Given the description of an element on the screen output the (x, y) to click on. 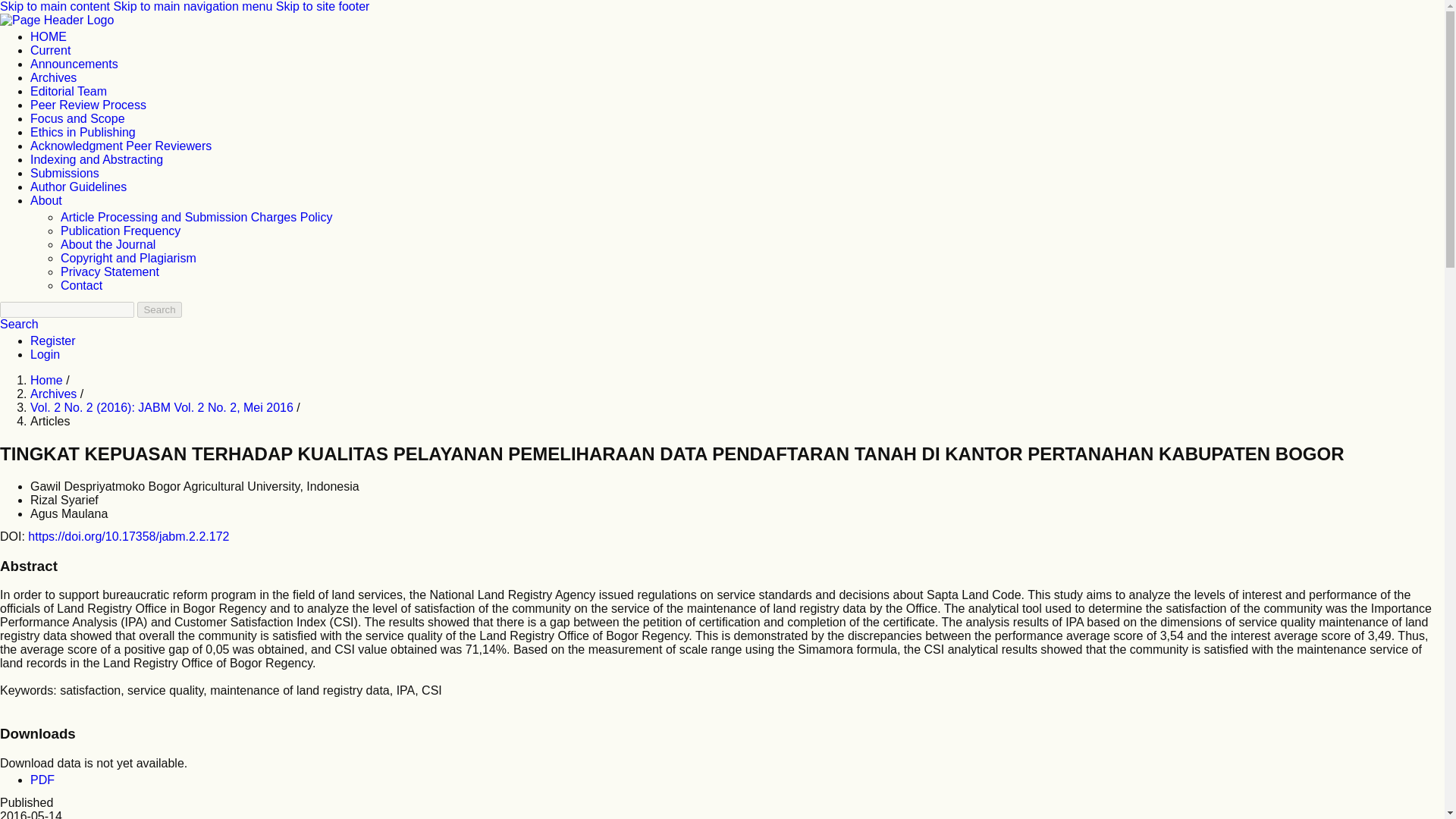
Editorial Team (68, 91)
Skip to main navigation menu (192, 6)
HOME (48, 36)
Skip to site footer (322, 6)
Home (47, 379)
Author Guidelines (78, 186)
Copyright and Plagiarism (128, 257)
Acknowledgment Peer Reviewers (120, 145)
Search (19, 323)
About the Journal (108, 244)
Login (44, 354)
Search (158, 309)
Privacy Statement (109, 271)
Contact (81, 285)
PDF (42, 779)
